Given the description of an element on the screen output the (x, y) to click on. 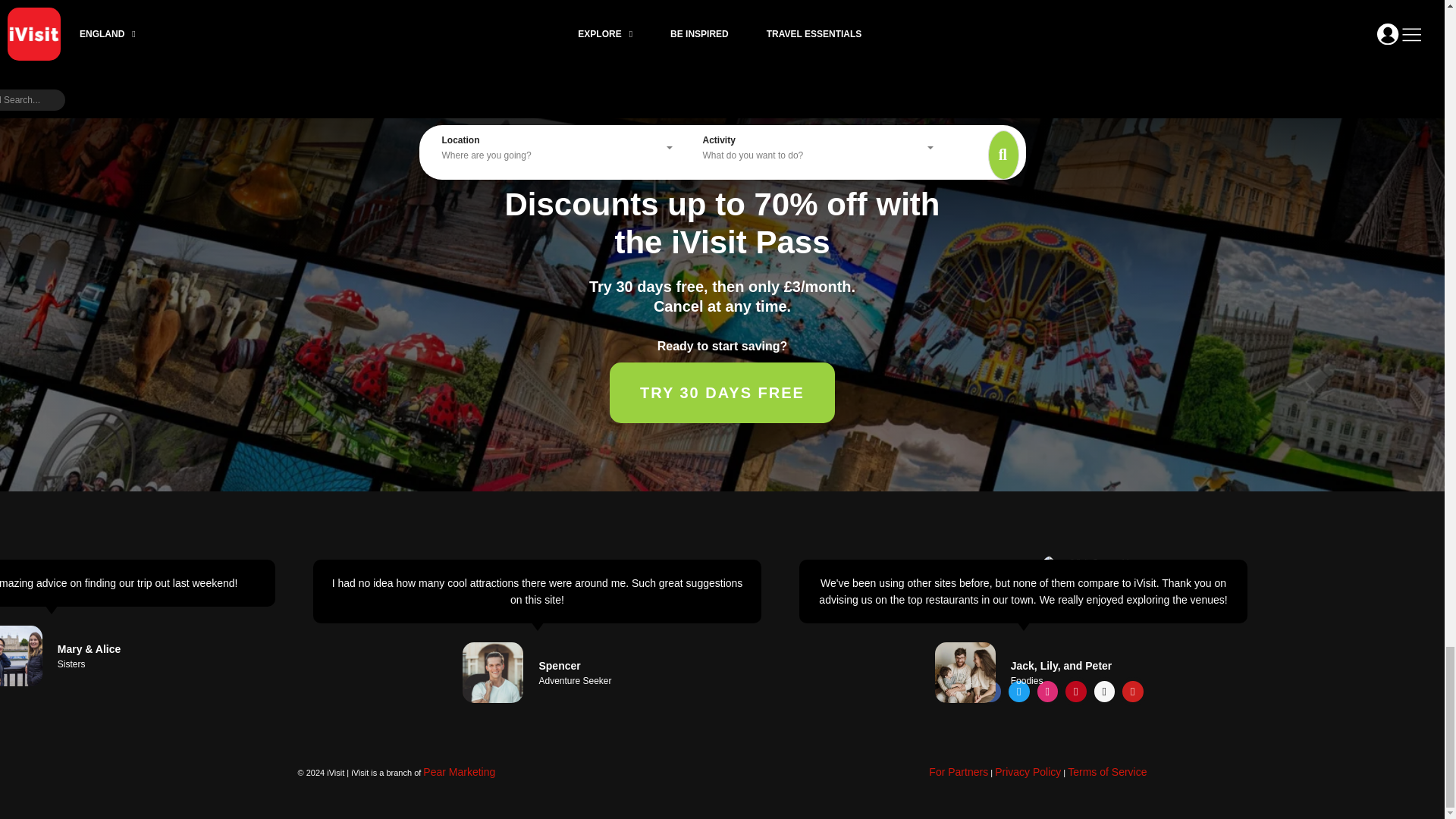
TRY 30 DAYS FREE (722, 392)
